Given the description of an element on the screen output the (x, y) to click on. 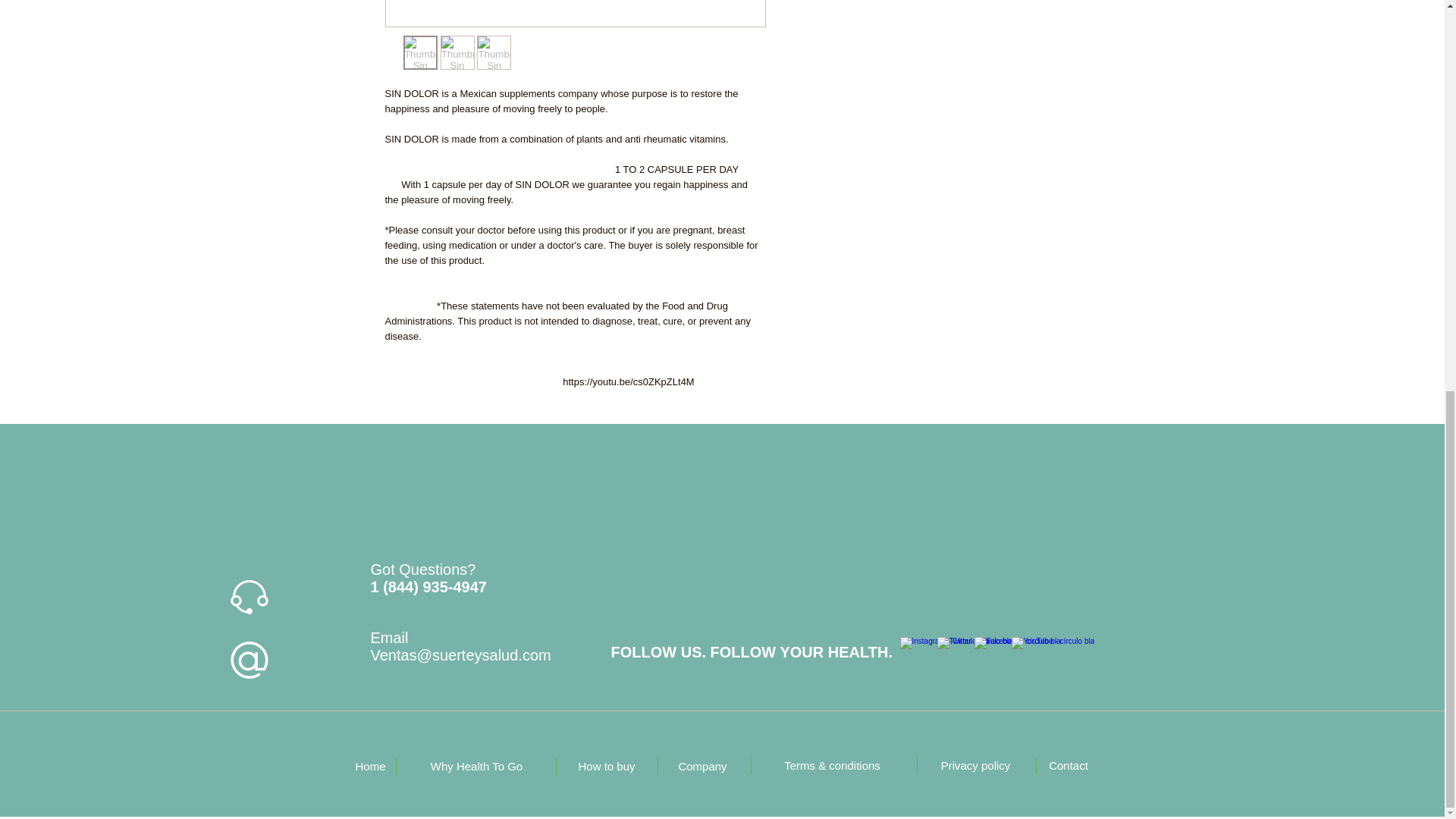
Contact (1068, 765)
Privacy policy (974, 765)
Home (369, 766)
How to buy (606, 766)
Why Health To Go (476, 766)
Company (702, 766)
